Given the description of an element on the screen output the (x, y) to click on. 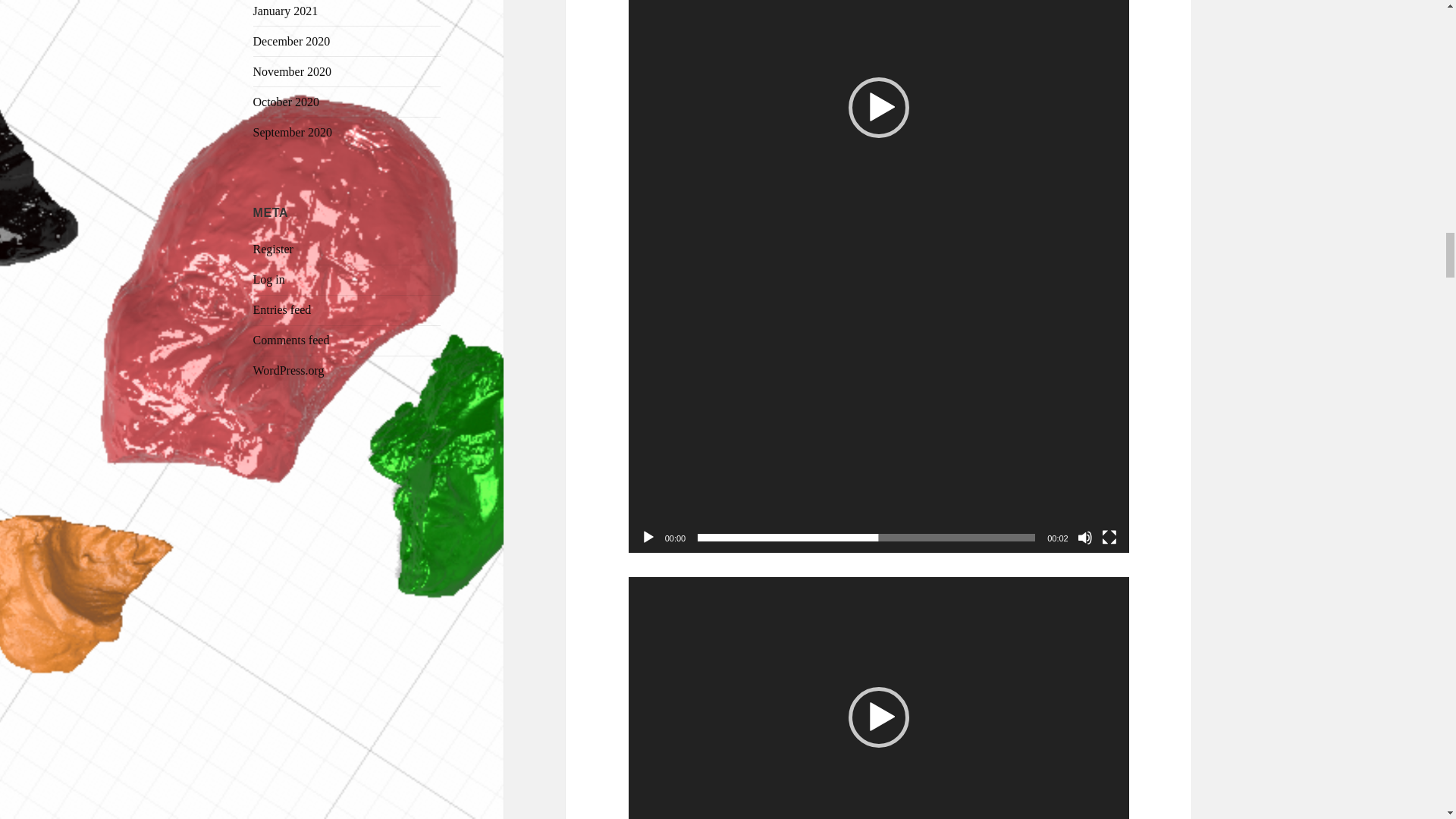
Mute (1085, 537)
Fullscreen (1109, 537)
Play (648, 537)
